Given the description of an element on the screen output the (x, y) to click on. 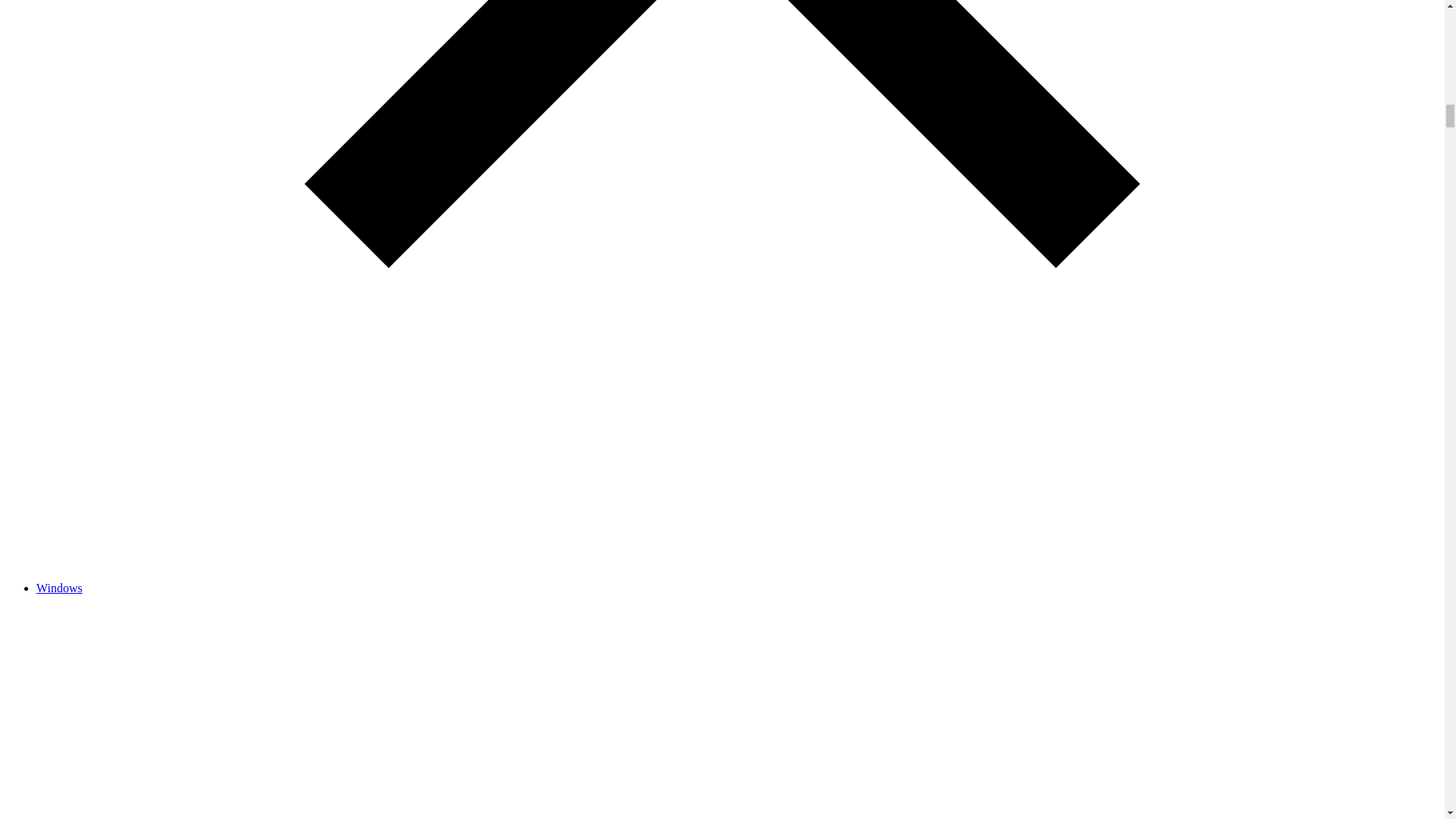
Windows (59, 587)
